Given the description of an element on the screen output the (x, y) to click on. 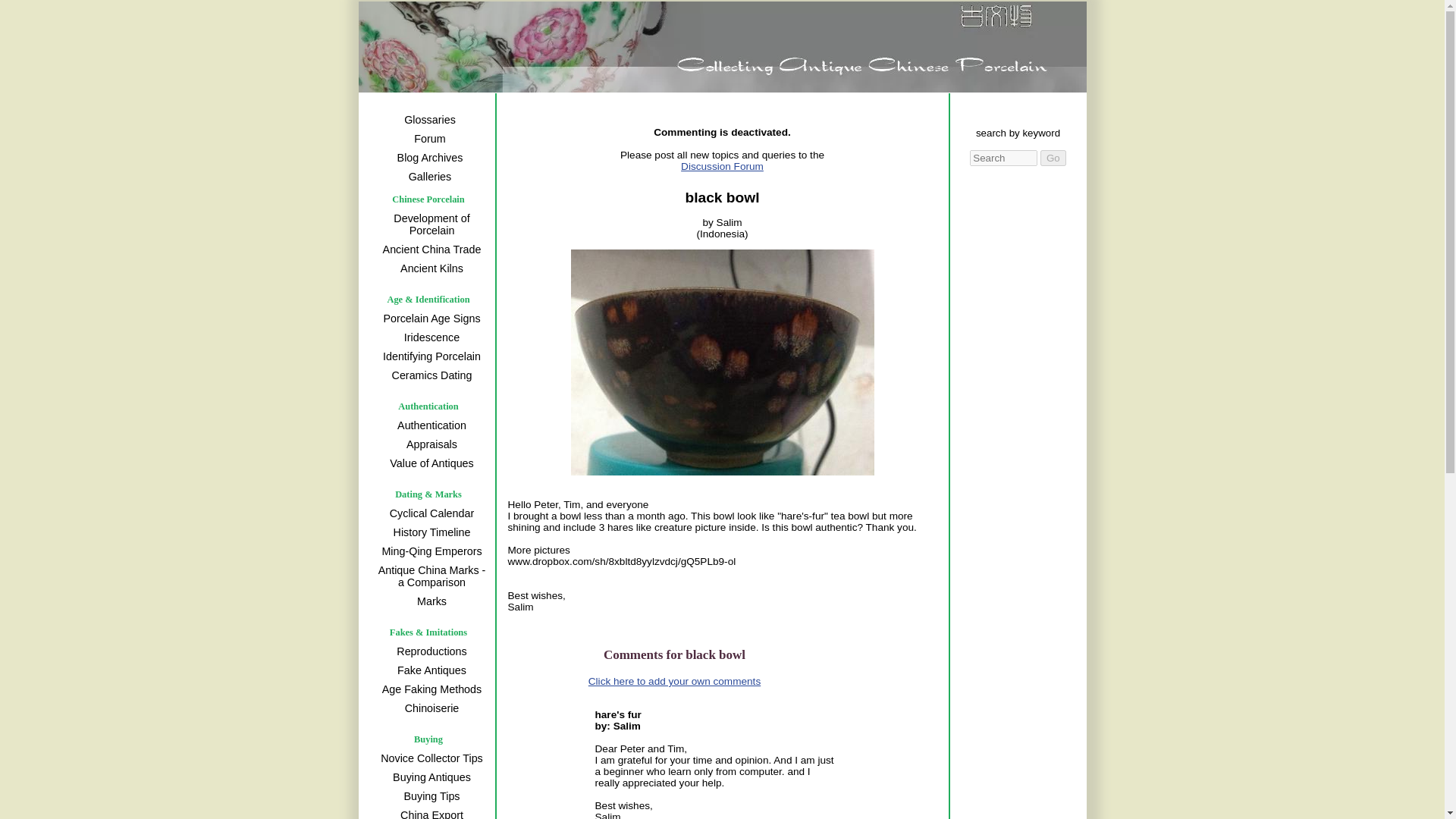
Discussion Forum (752, 171)
Forum (428, 138)
Galleries (428, 176)
Marks (429, 600)
Antique China Marks - a Comparison (429, 575)
Age Faking Methods (429, 688)
Ceramics Dating (429, 375)
Authentication (429, 425)
Blog Archives (428, 157)
Appraisals (429, 443)
